Given the description of an element on the screen output the (x, y) to click on. 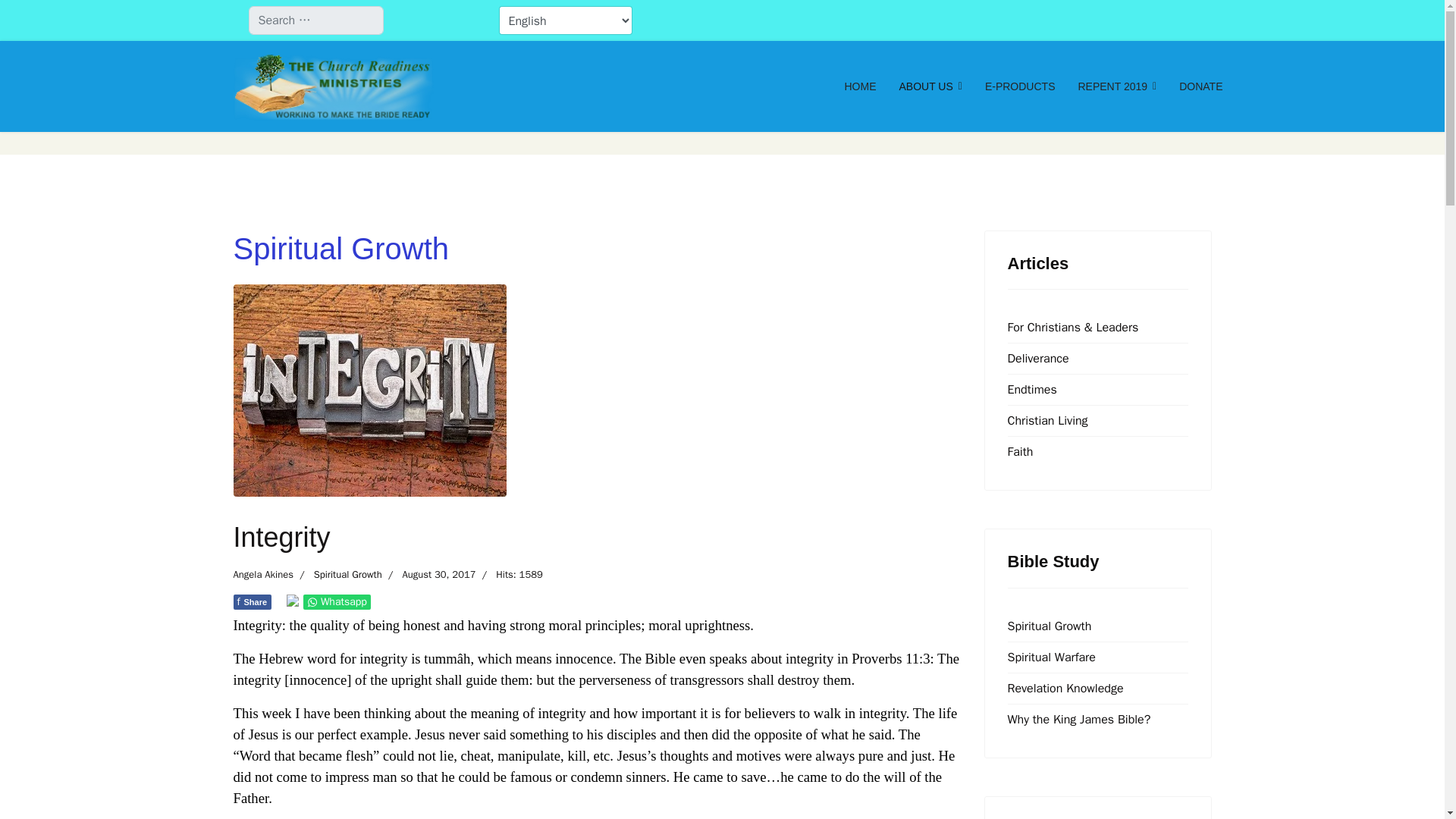
Endtimes (1097, 389)
Category: Spiritual Growth (337, 574)
Spiritual Growth (252, 601)
Whatsapp (347, 574)
REPENT 2019 (336, 601)
Written by: Angela Akines (1116, 85)
E-PRODUCTS (263, 574)
Faith (1020, 85)
Deliverance (1097, 451)
